Given the description of an element on the screen output the (x, y) to click on. 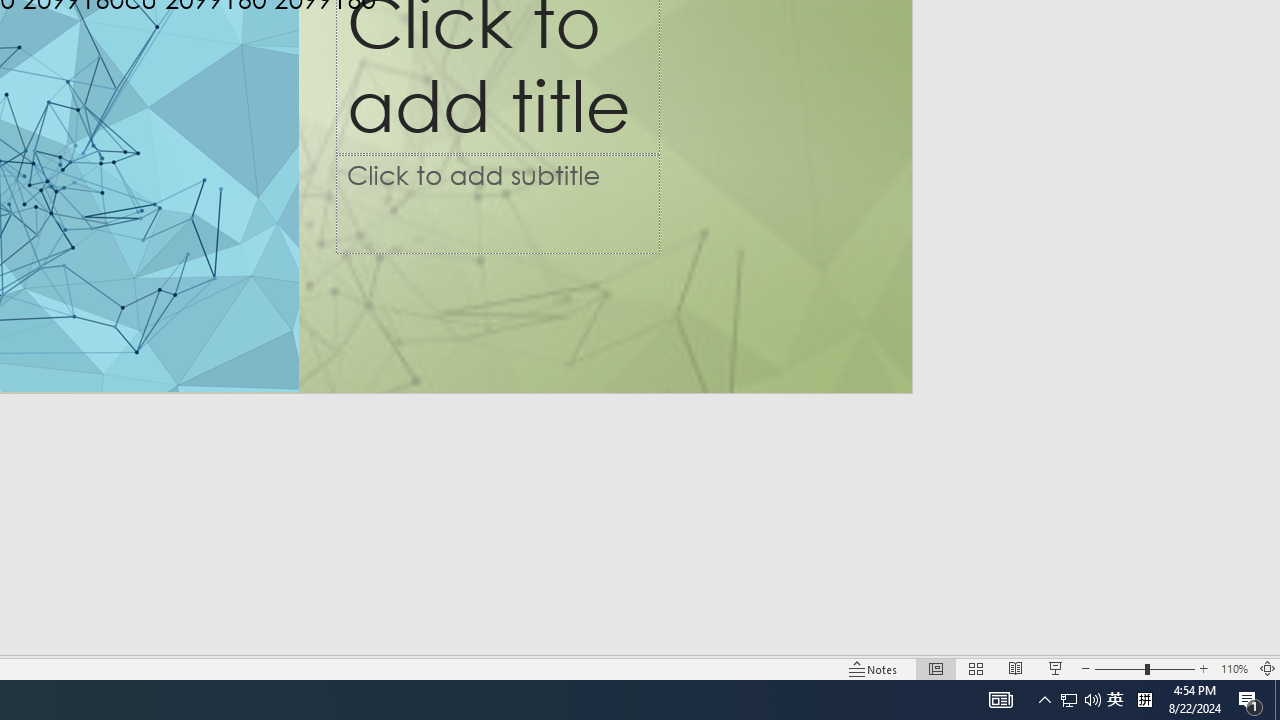
Notification Chevron (1044, 699)
Q2790: 100% (1092, 699)
Show desktop (1115, 699)
User Promoted Notification Area (1277, 699)
Action Center, 1 new notification (1080, 699)
Tray Input Indicator - Chinese (Simplified, China) (1250, 699)
AutomationID: 4105 (1144, 699)
